Given the description of an element on the screen output the (x, y) to click on. 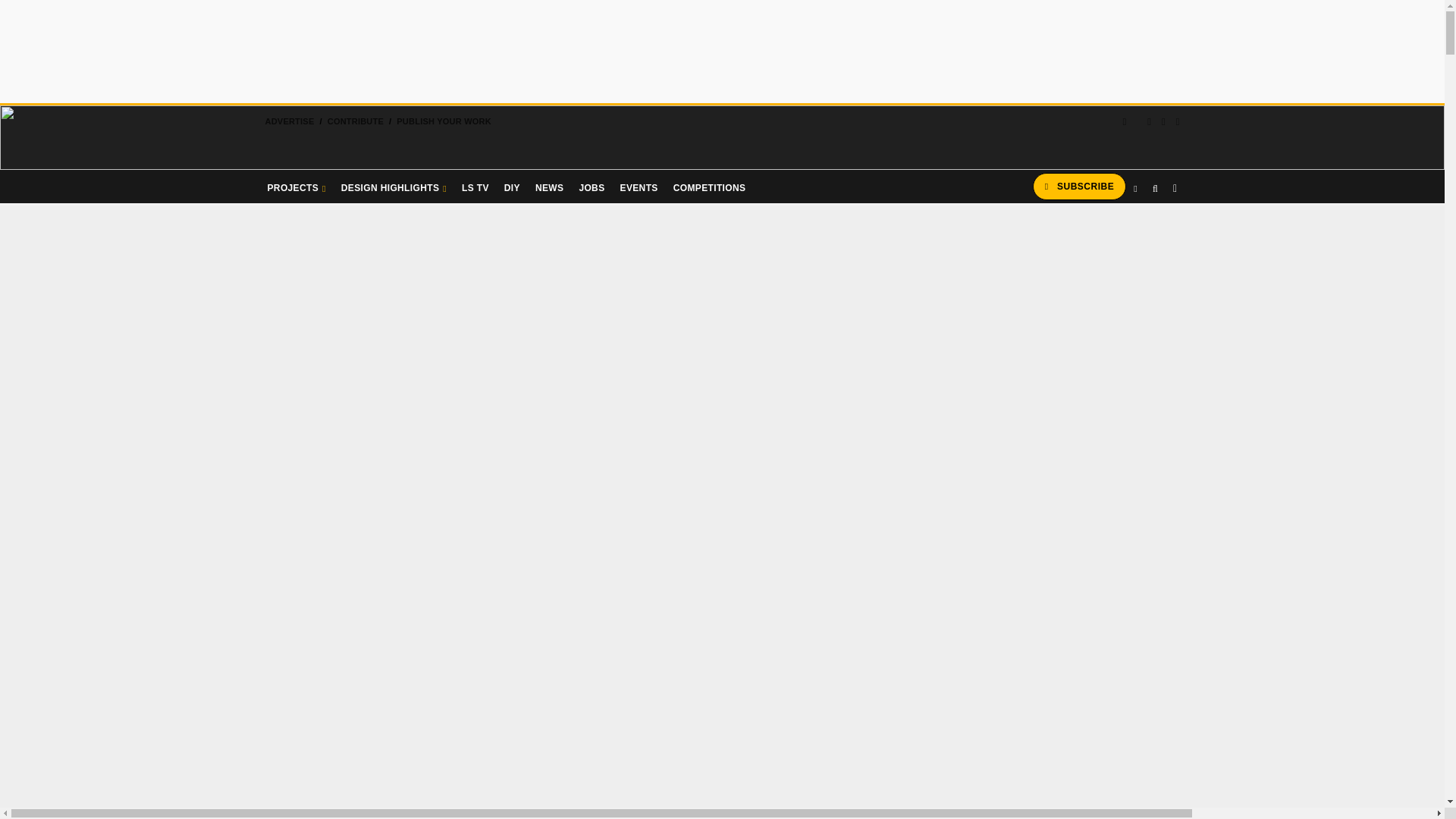
DESIGN HIGHLIGHTS (393, 186)
ADVERTISE (288, 120)
CONTRIBUTE (354, 120)
PROJECTS (296, 186)
LS TV (475, 186)
PUBLISH YOUR WORK (443, 120)
